Given the description of an element on the screen output the (x, y) to click on. 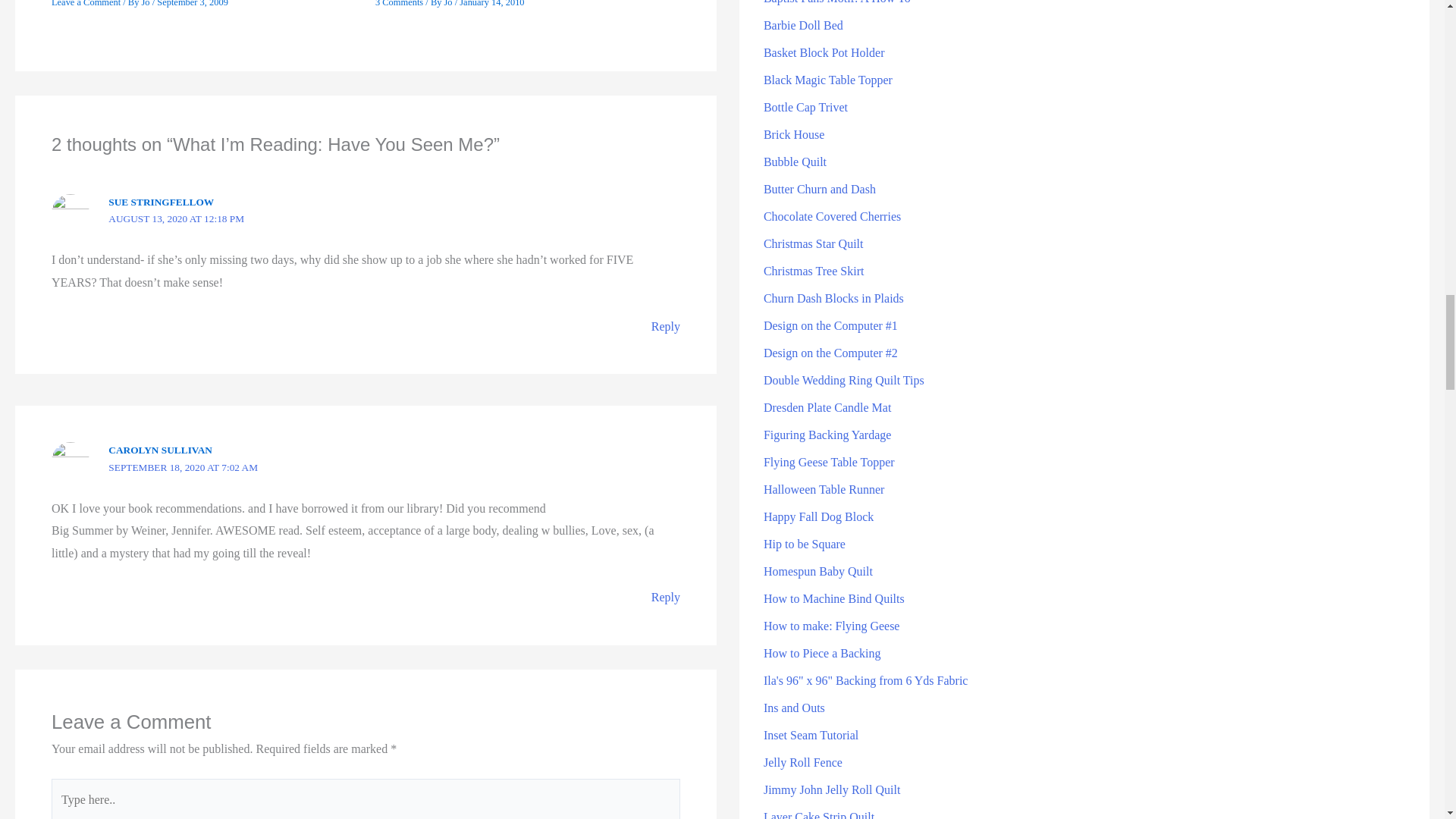
View all posts by Jo (449, 3)
View all posts by Jo (146, 3)
